Given the description of an element on the screen output the (x, y) to click on. 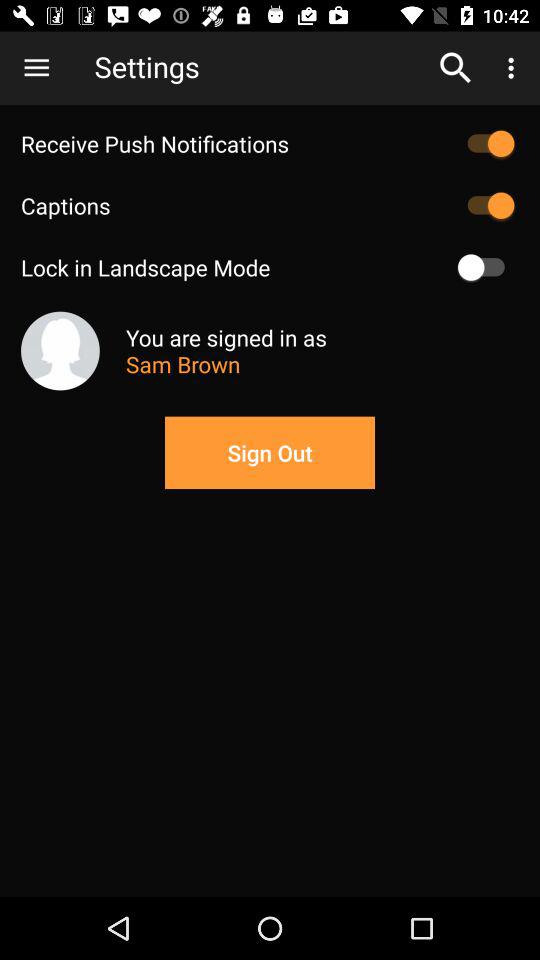
switch lock in mode (486, 267)
